Given the description of an element on the screen output the (x, y) to click on. 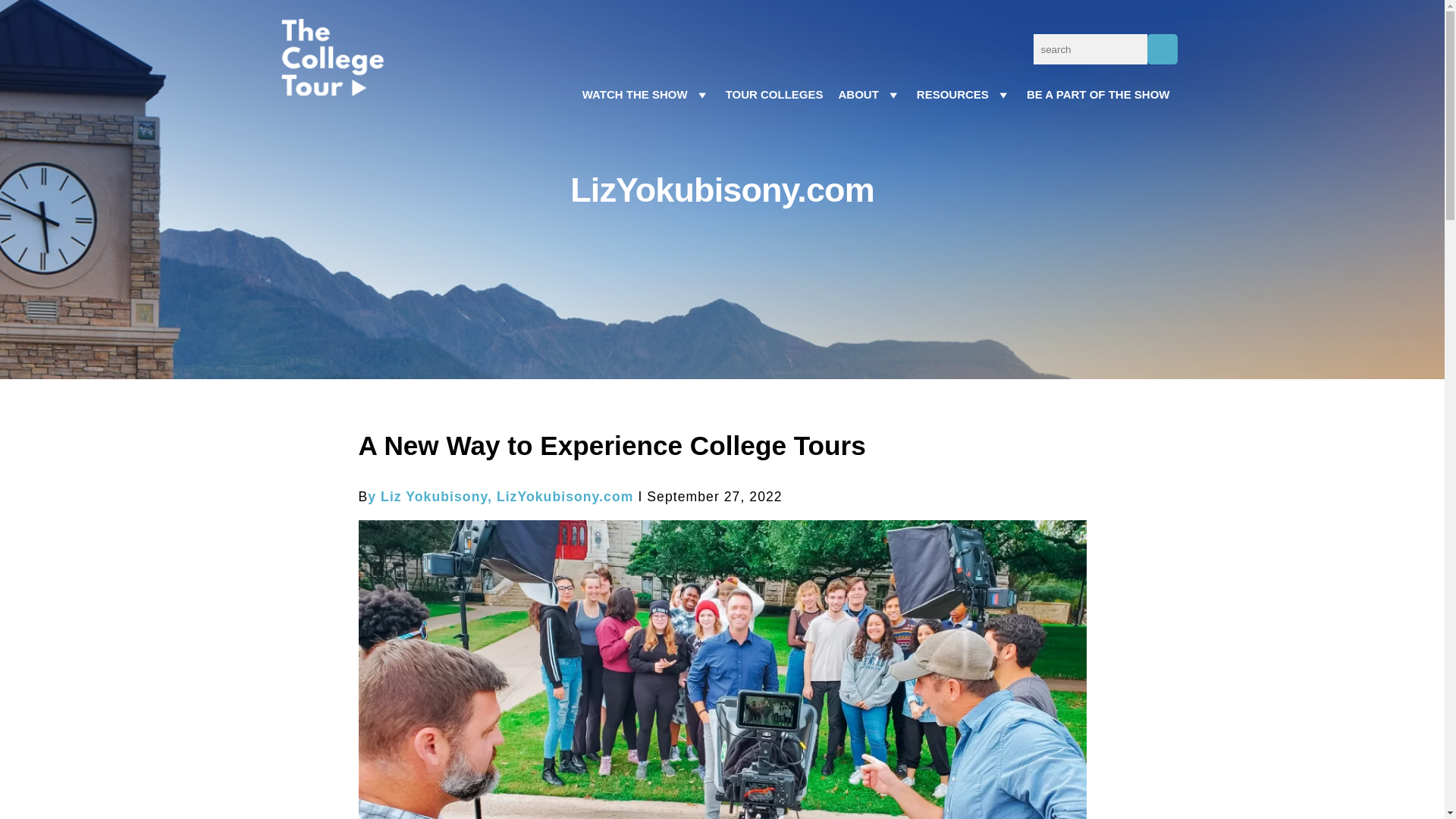
TOUR COLLEGES (774, 94)
ABOUT (869, 94)
WATCH THE SHOW (646, 94)
